Given the description of an element on the screen output the (x, y) to click on. 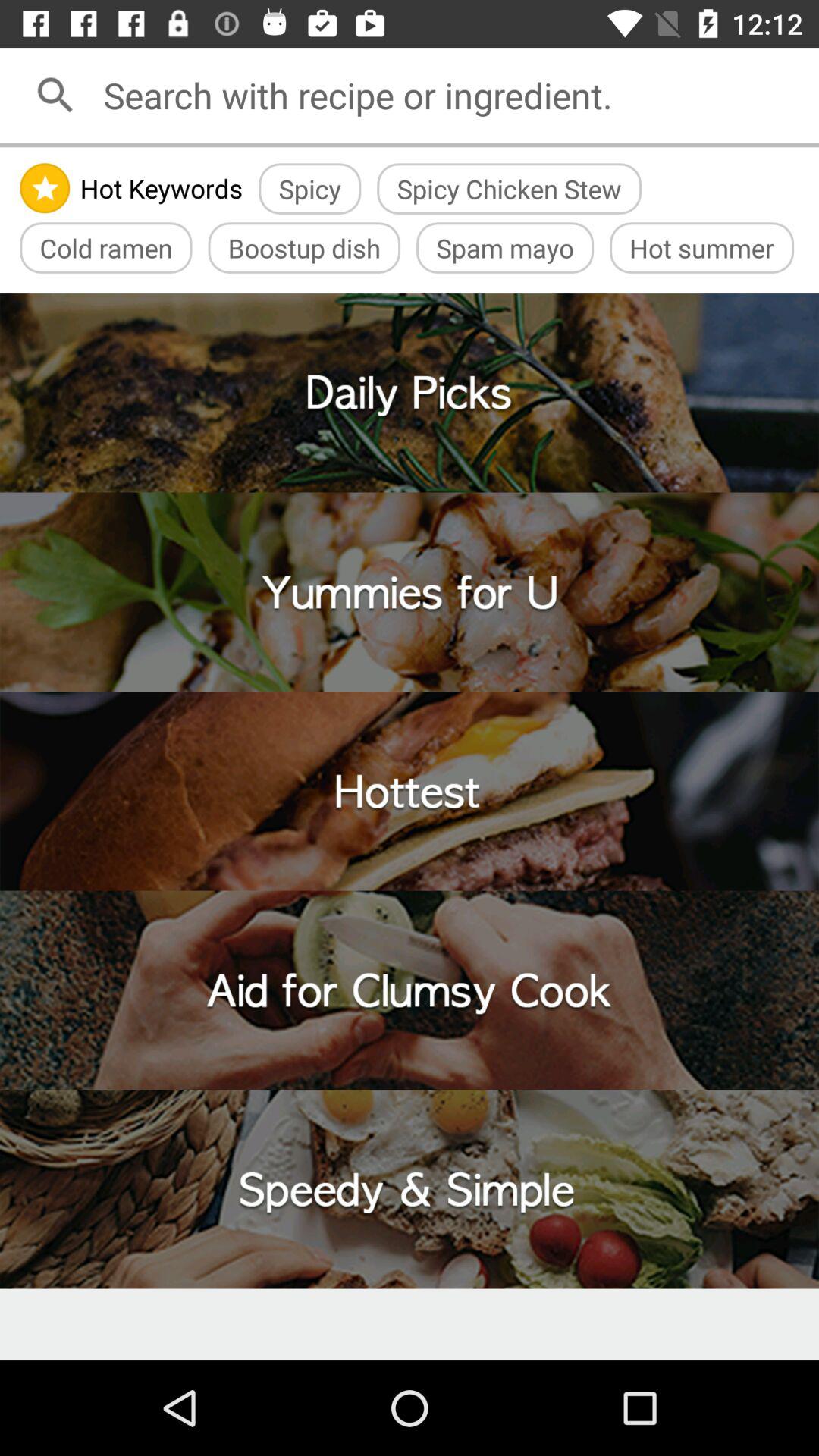
search with recipe or ingredient (455, 95)
